Given the description of an element on the screen output the (x, y) to click on. 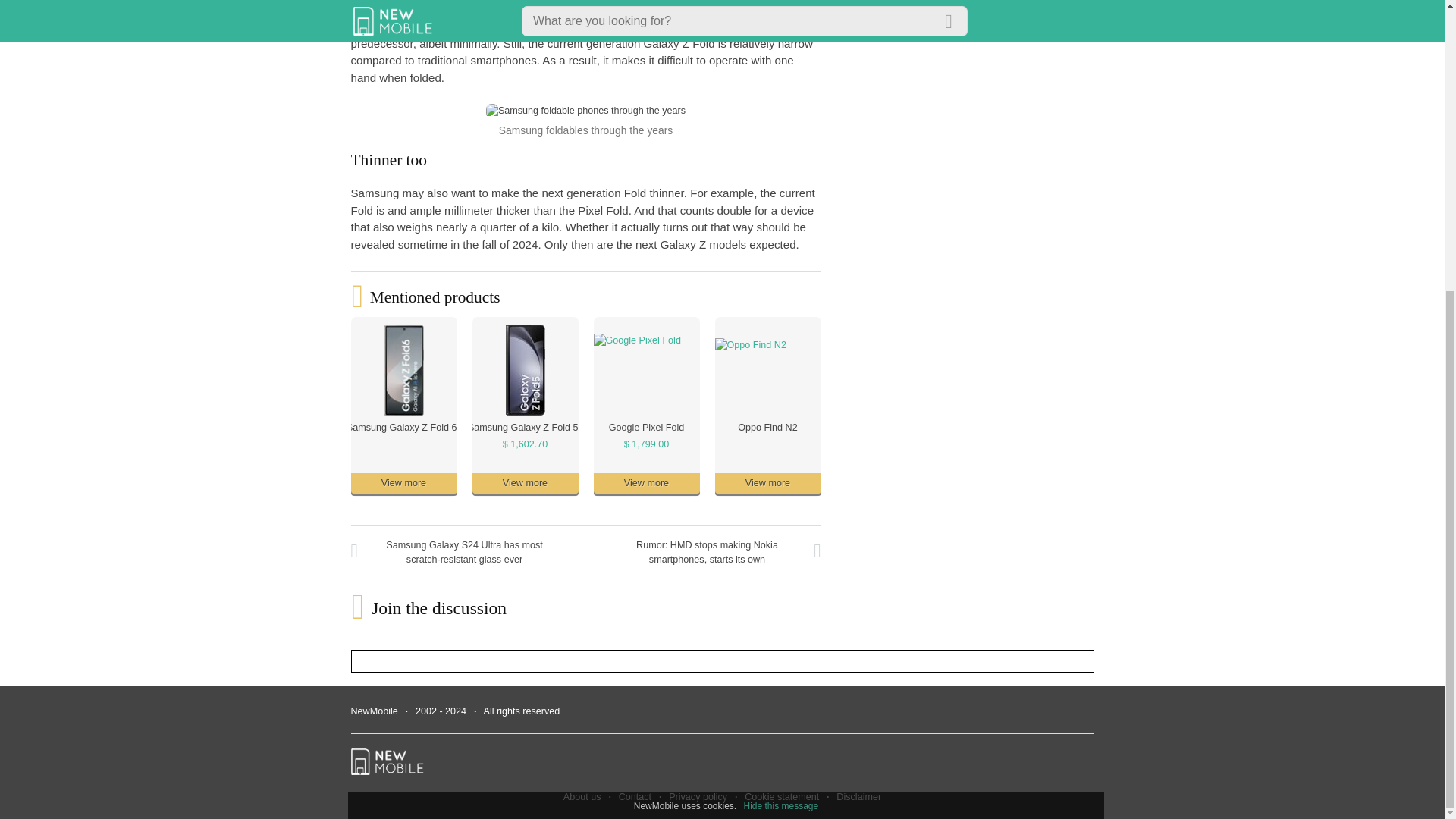
Show complete list with prices of Samsung Galaxy Z Fold 5 (525, 443)
Show complete list with prices of Google Pixel Fold (646, 443)
View more (524, 483)
Samsung Galaxy Z Fold 5 (522, 427)
Samsung Galaxy Z Fold 5 (522, 427)
Samsung Galaxy Z Fold 6 (401, 427)
View more (645, 483)
Google Pixel Fold (646, 427)
Fold 5 (688, 25)
Oppo Find N2 (767, 427)
